Given the description of an element on the screen output the (x, y) to click on. 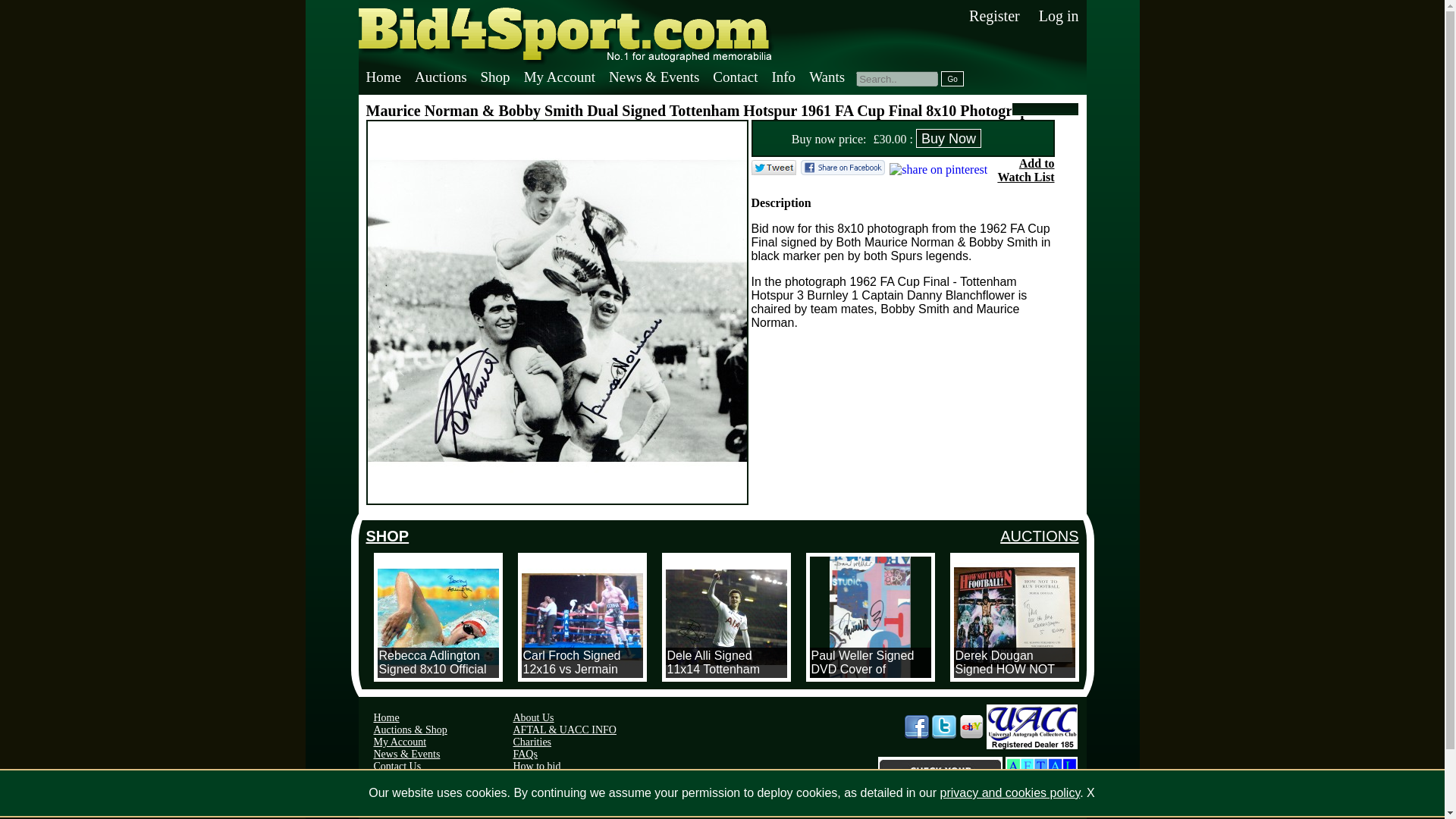
Info (782, 77)
Go (951, 78)
Derek Dougan Signed HOW NOT TO RUN FOOTBALL Hardback Book (1014, 617)
Paul Weller Signed DVD Cover of Studio150. (870, 617)
Carl Froch Signed 12x16 vs Jermain Taylor Photograph (582, 617)
Wants (826, 77)
Auctions (440, 77)
SHOP (387, 535)
My Account (558, 77)
Register (994, 15)
Buy Now (948, 138)
Contact (733, 77)
